Given the description of an element on the screen output the (x, y) to click on. 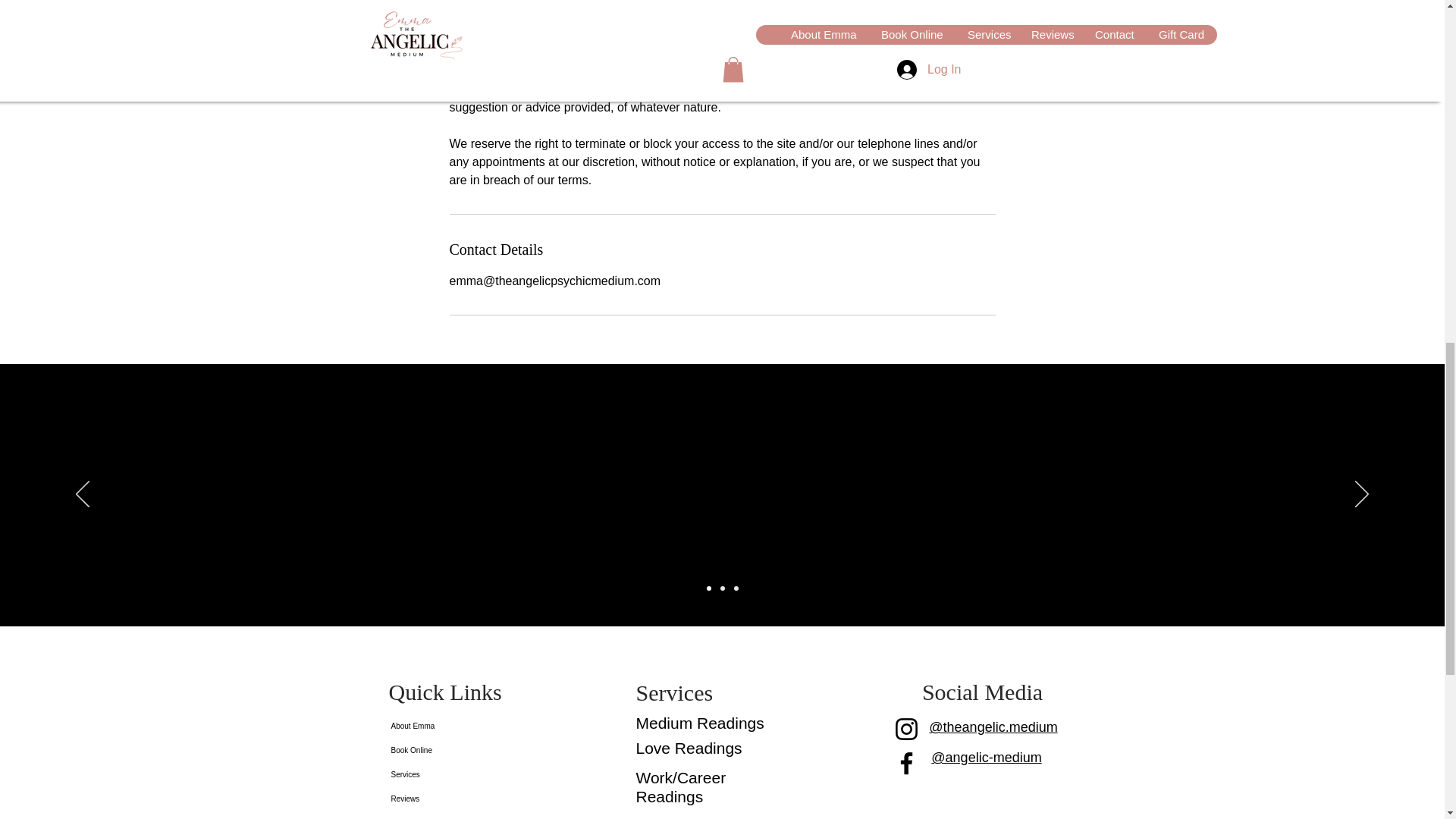
Medium Readings (698, 723)
About Emma (448, 726)
Love Readings (687, 747)
Services (448, 774)
Contact (448, 815)
Reviews (448, 799)
Book Online (448, 750)
